Given the description of an element on the screen output the (x, y) to click on. 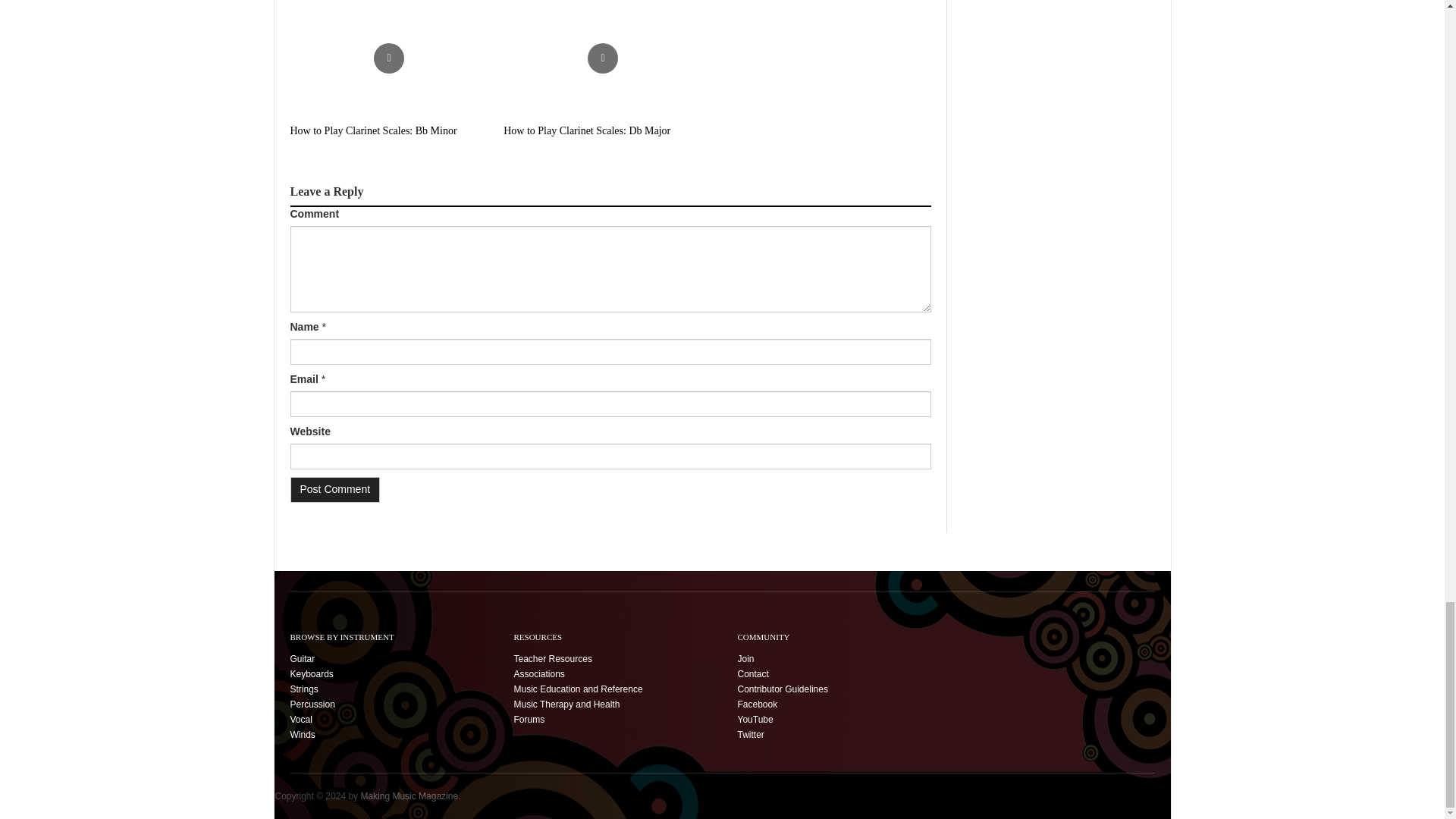
Permalink to How to Play Clarinet Scales: Bb Minor (388, 58)
Permalink to How to Play Clarinet Scales: Bb Minor (373, 130)
Permalink to How to Play Clarinet Scales: Db Major (586, 130)
Permalink to How to Play Clarinet Scales: Db Major (602, 58)
Post Comment (334, 489)
